Given the description of an element on the screen output the (x, y) to click on. 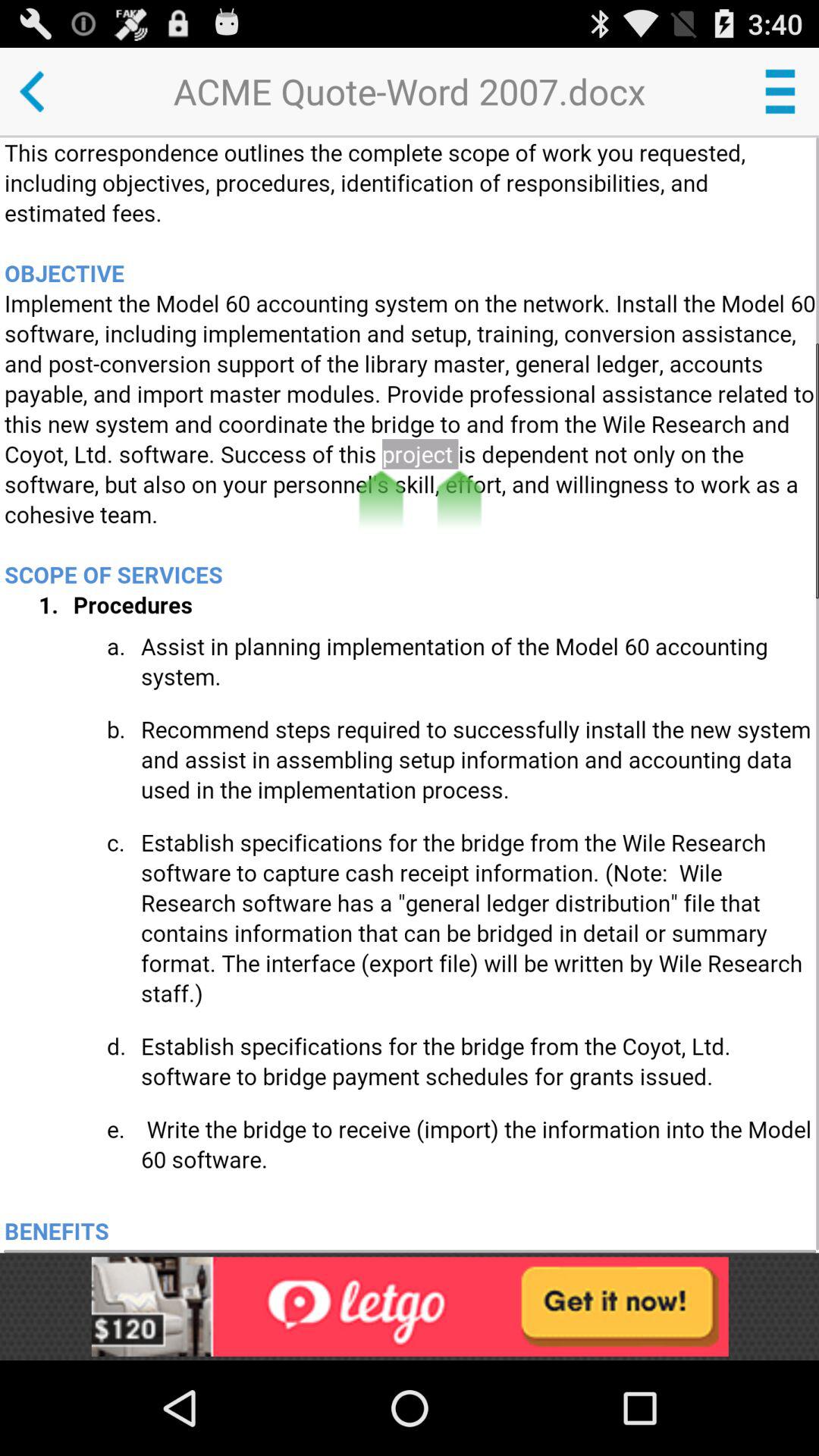
open side menu (779, 91)
